Given the description of an element on the screen output the (x, y) to click on. 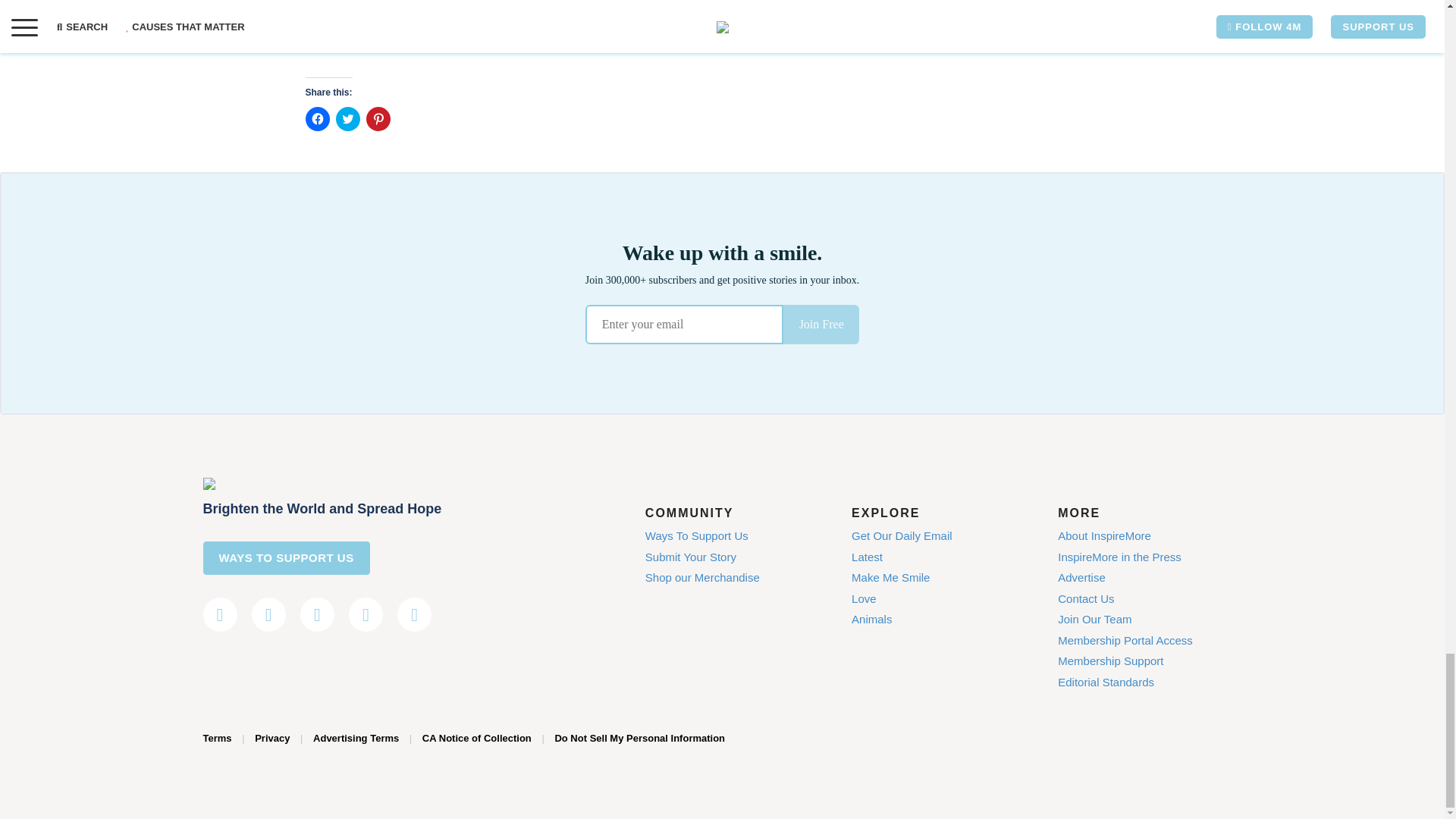
Click to share on Facebook (316, 119)
Click to share on Pinterest (377, 119)
WAYS TO SUPPORT US (286, 558)
Click to share on Twitter (346, 119)
